Given the description of an element on the screen output the (x, y) to click on. 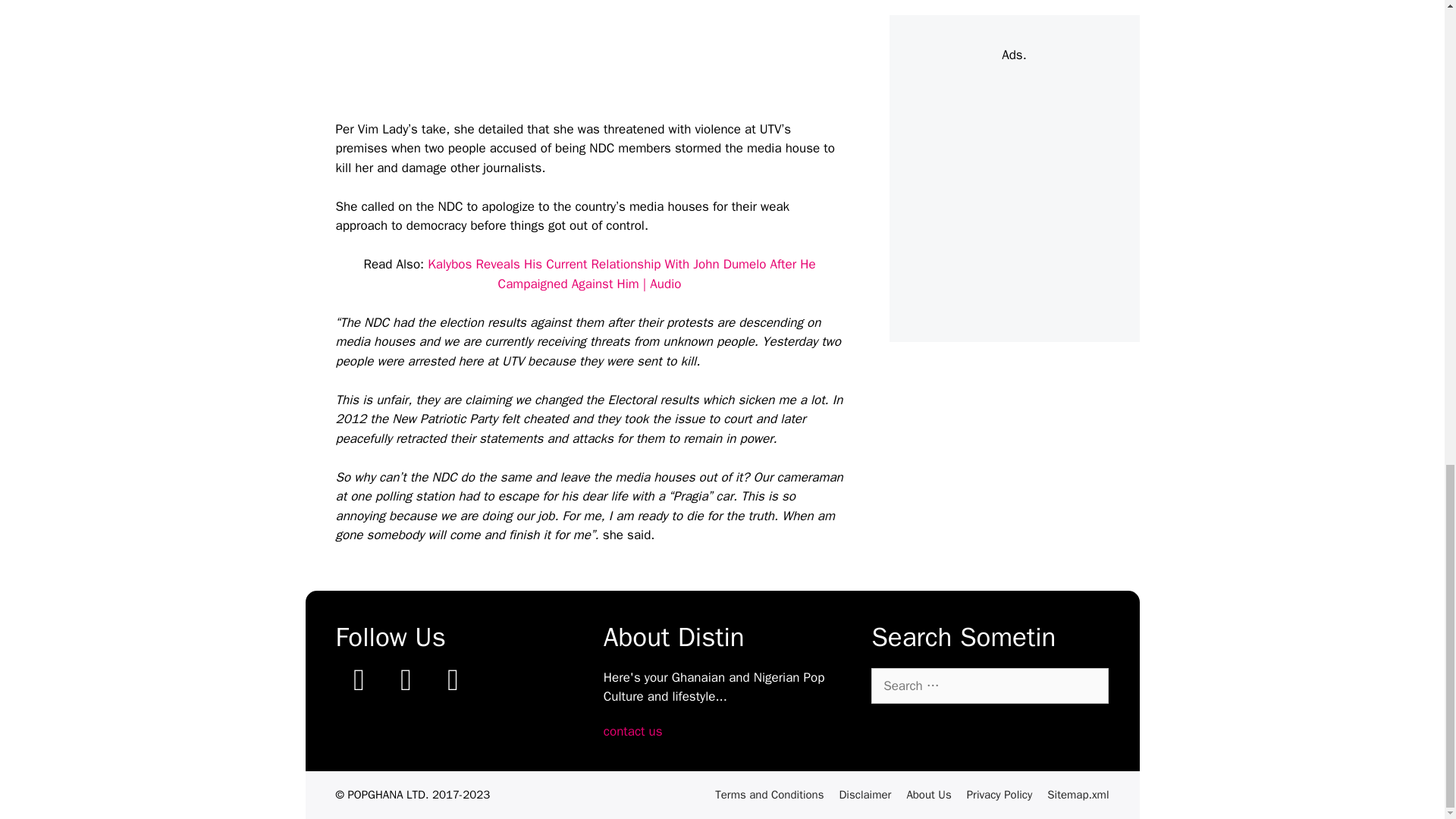
Search for: (989, 686)
Privacy Policy (999, 794)
Terms and Conditions (769, 794)
contact us (633, 731)
Sitemap.xml (1077, 794)
About Us (927, 794)
Disclaimer (864, 794)
